Given the description of an element on the screen output the (x, y) to click on. 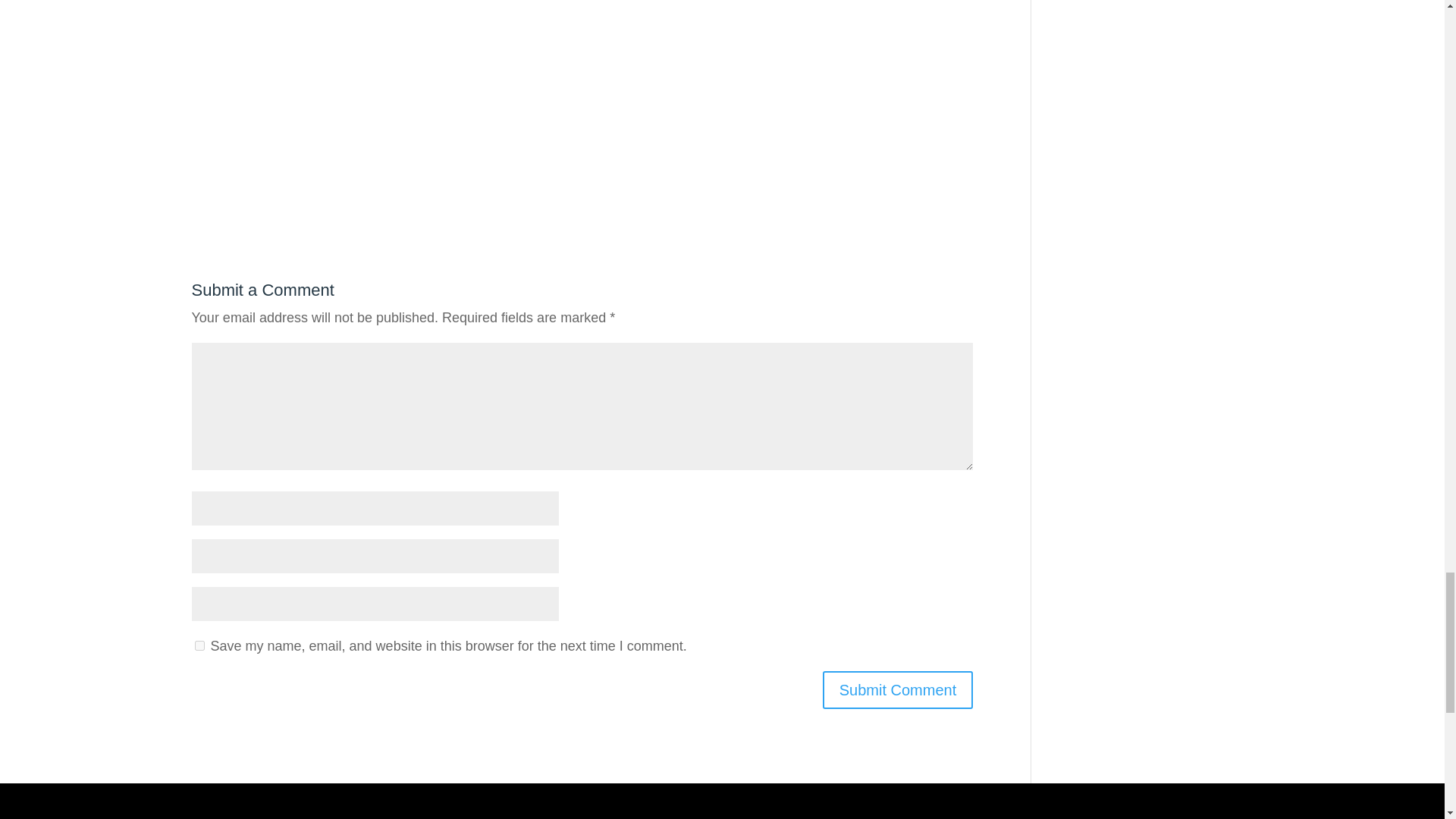
yes (198, 645)
Submit Comment (898, 689)
